Given the description of an element on the screen output the (x, y) to click on. 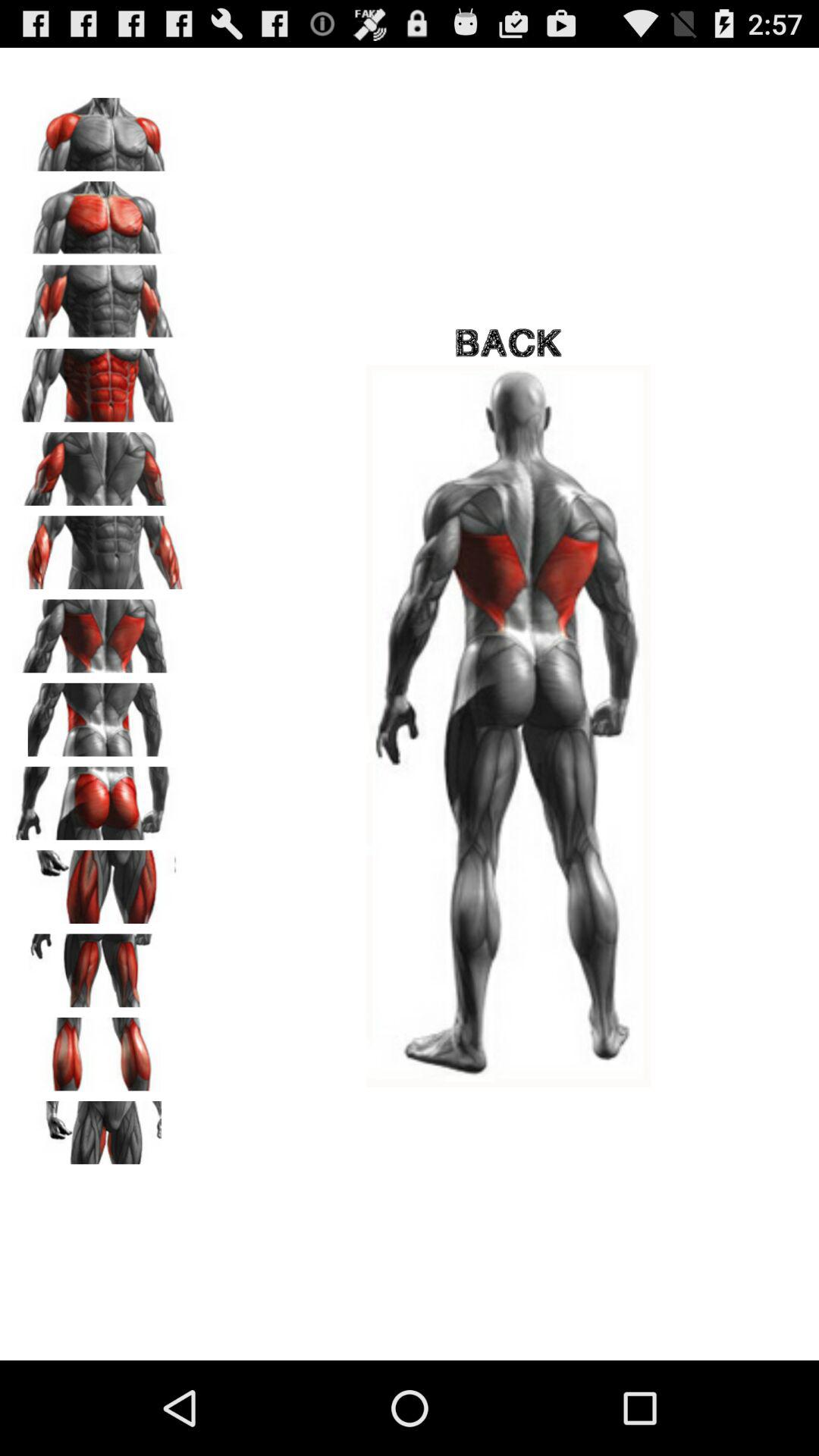
groin area (99, 1132)
